Given the description of an element on the screen output the (x, y) to click on. 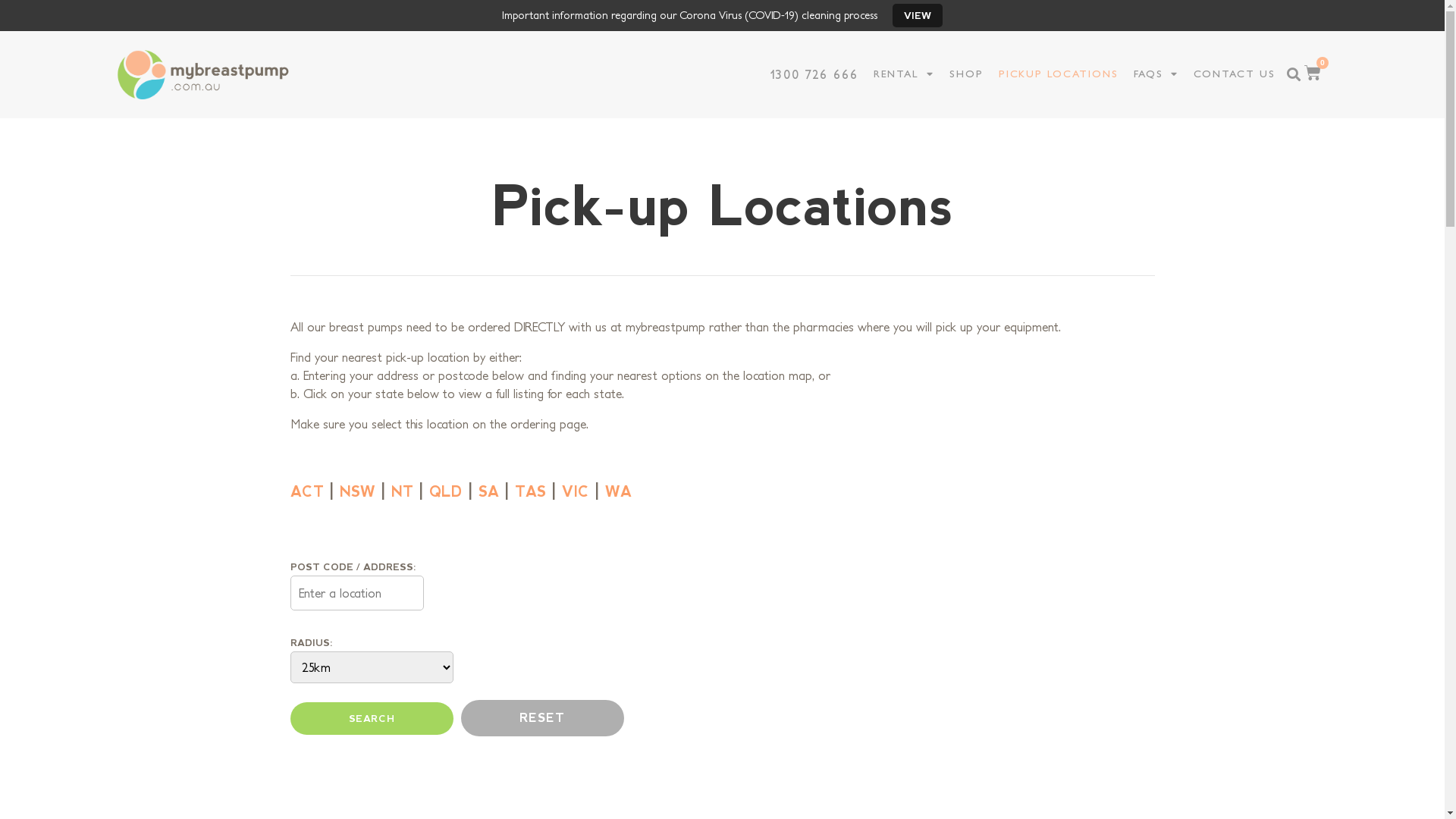
0 Element type: text (1312, 72)
QLD Element type: text (445, 491)
Search Element type: text (370, 718)
1300 726 666 Element type: text (814, 73)
Reset Element type: text (542, 717)
VIEW Element type: text (917, 15)
RENTAL Element type: text (903, 73)
TAS Element type: text (529, 491)
NT Element type: text (402, 491)
WA Element type: text (618, 491)
CONTACT US Element type: text (1234, 73)
SHOP Element type: text (966, 73)
NSW Element type: text (357, 491)
FAQS Element type: text (1156, 73)
SA Element type: text (487, 491)
VIC Element type: text (574, 491)
ACT Element type: text (306, 491)
PICKUP LOCATIONS Element type: text (1058, 73)
